Given the description of an element on the screen output the (x, y) to click on. 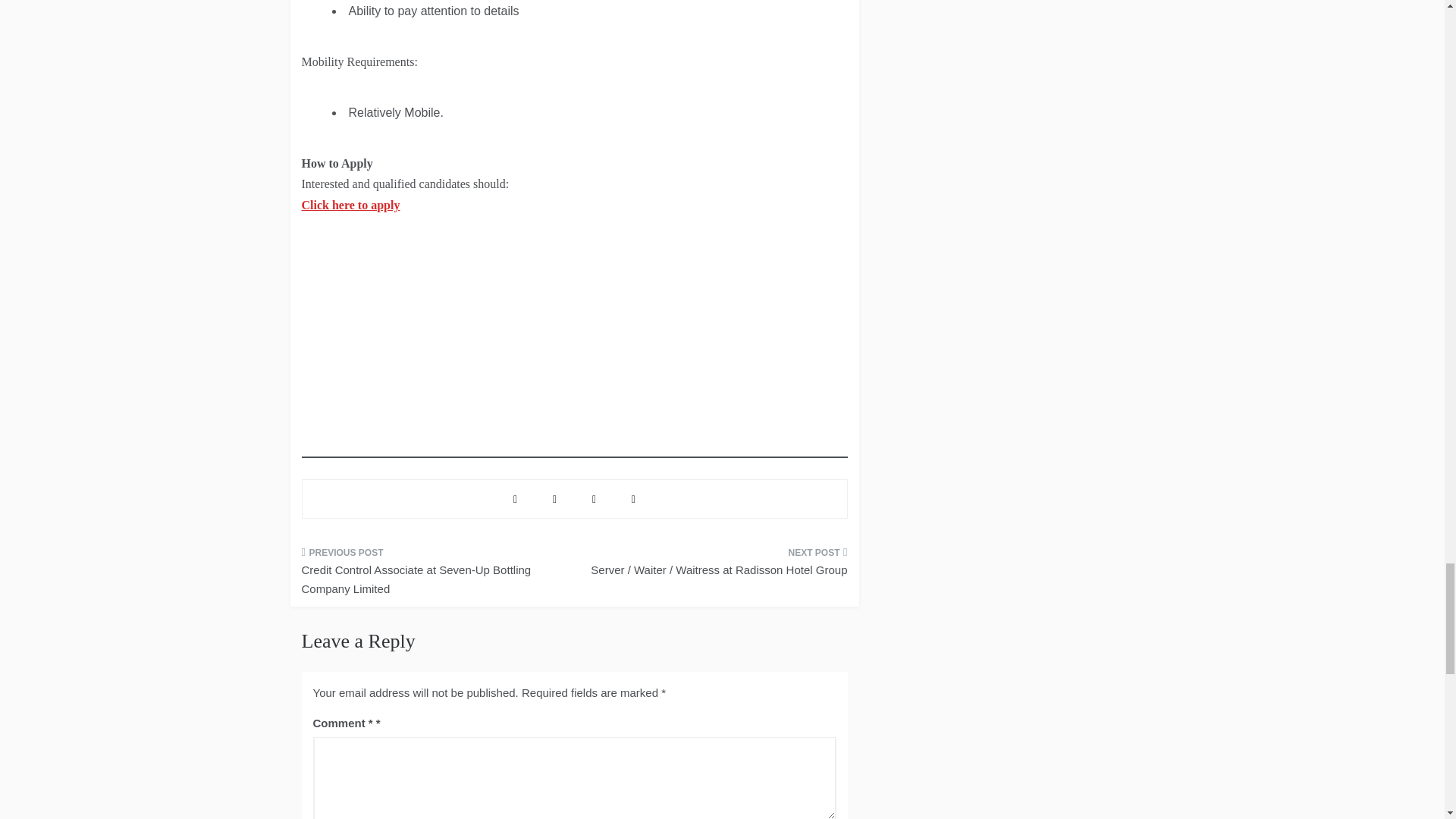
Click here to apply (350, 205)
